Given the description of an element on the screen output the (x, y) to click on. 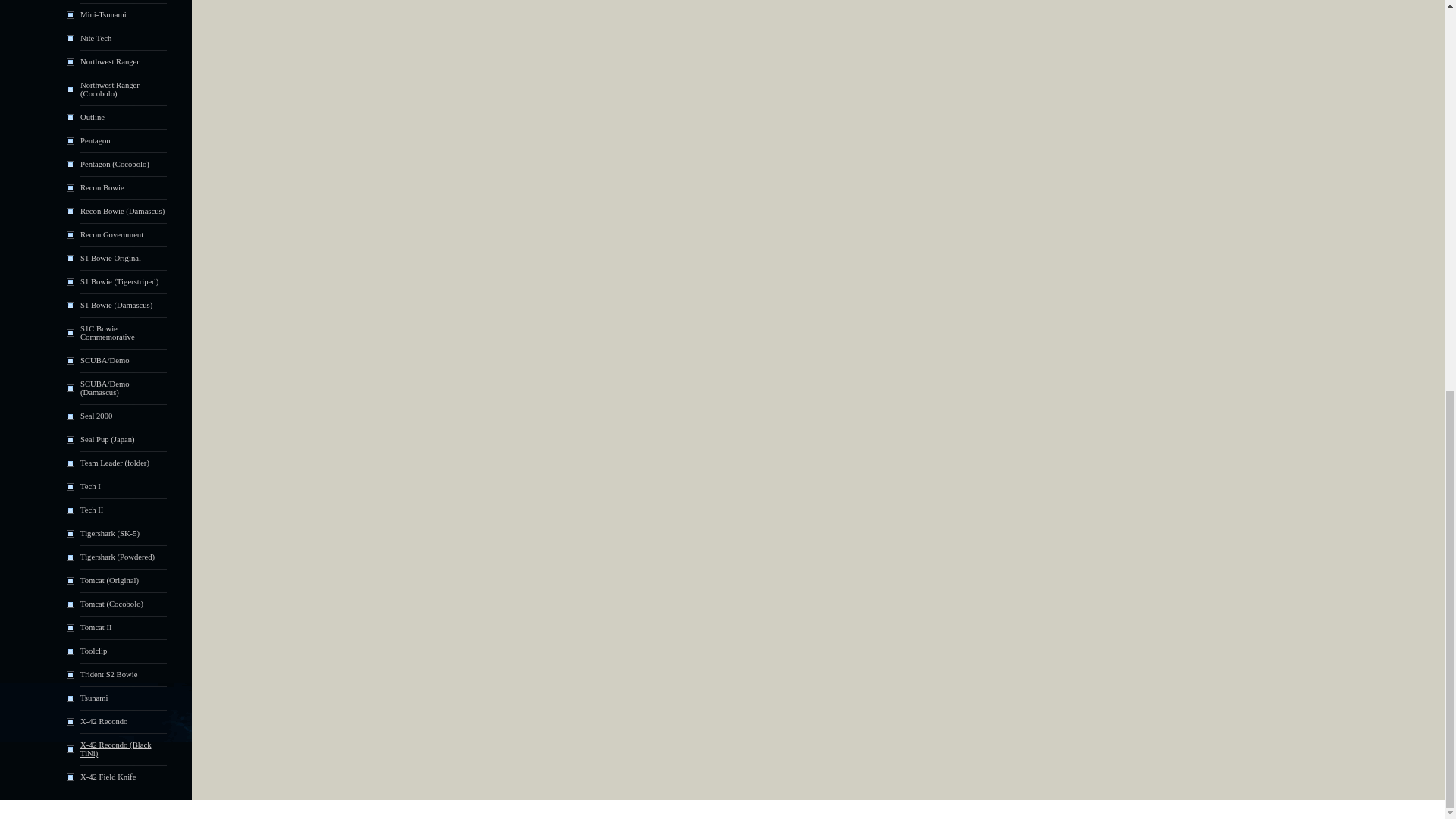
Northwest Ranger (109, 61)
Recon Bowie (101, 187)
S1C Bowie Commemorative (107, 332)
Mini-Tsunami (103, 14)
Seal 2000 (96, 415)
S1 Bowie Original (110, 257)
Outline (92, 117)
Nite Tech (96, 38)
Pentagon (95, 140)
Recon Government (111, 234)
